Given the description of an element on the screen output the (x, y) to click on. 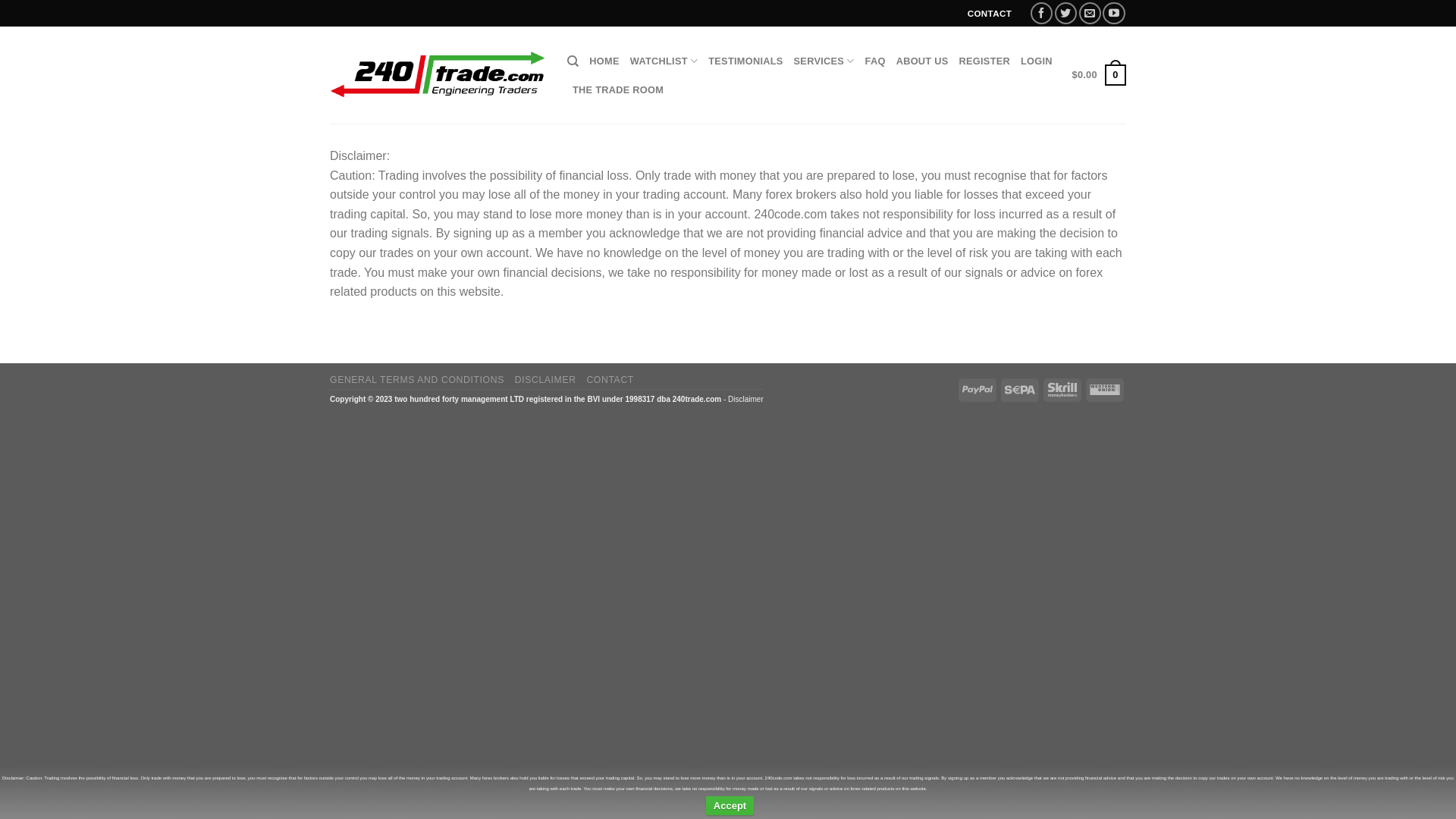
CONTACT Element type: text (609, 379)
$0.00
0 Element type: text (1099, 74)
Accept Element type: text (729, 806)
LOGIN Element type: text (1036, 61)
- Disclaimer Element type: text (742, 399)
SERVICES Element type: text (823, 60)
DISCLAIMER Element type: text (545, 379)
WATCHLIST Element type: text (663, 60)
CONTACT Element type: text (989, 13)
HOME Element type: text (603, 61)
GENERAL TERMS AND CONDITIONS Element type: text (416, 379)
FAQ Element type: text (875, 61)
240trade.com - Engineering Traders Element type: hover (436, 74)
THE TRADE ROOM Element type: text (617, 89)
REGISTER Element type: text (984, 61)
TESTIMONIALS Element type: text (745, 61)
ABOUT US Element type: text (922, 61)
Skip to content Element type: text (0, 0)
